Given the description of an element on the screen output the (x, y) to click on. 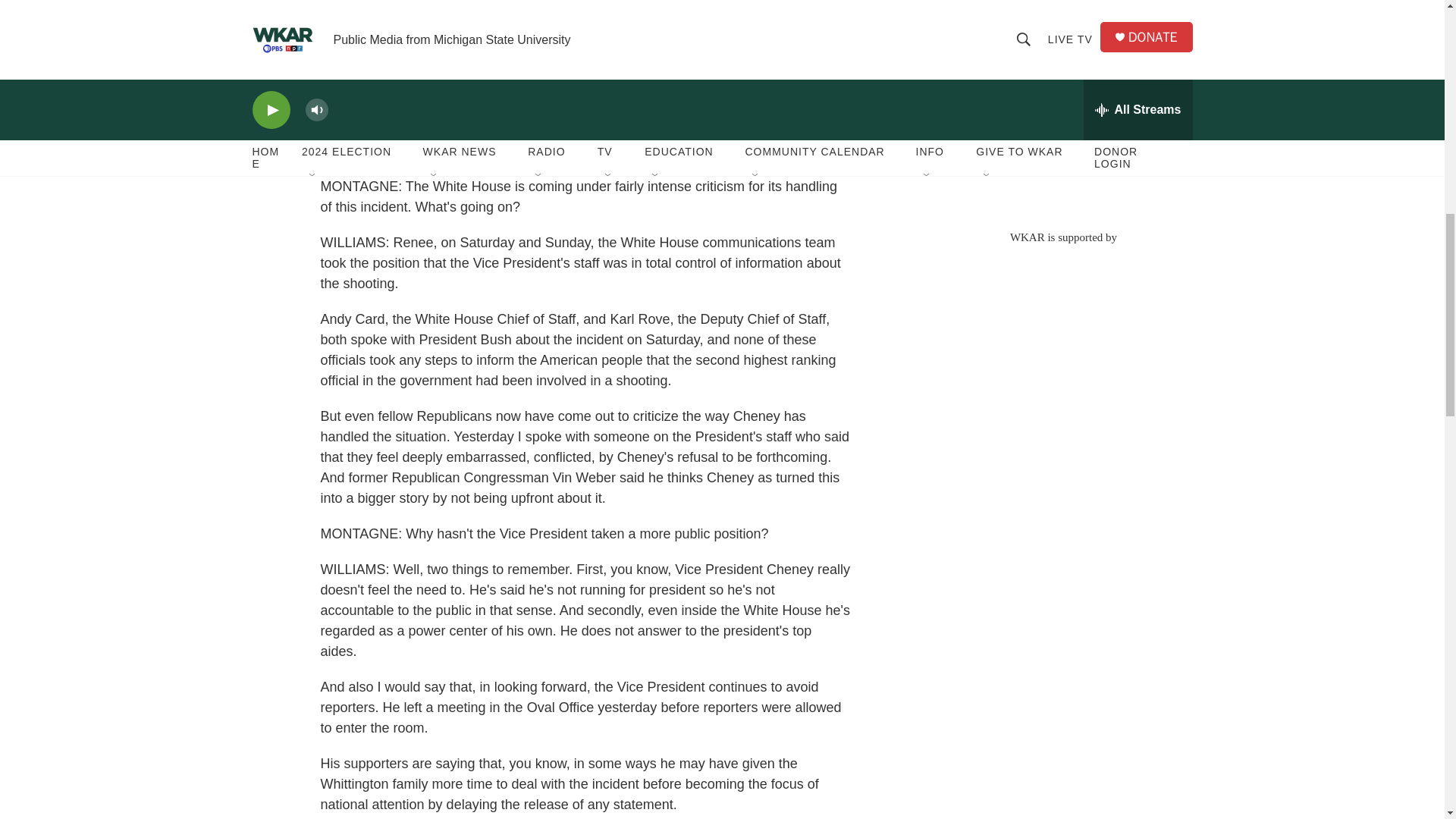
3rd party ad content (1062, 353)
3rd party ad content (1062, 105)
